Given the description of an element on the screen output the (x, y) to click on. 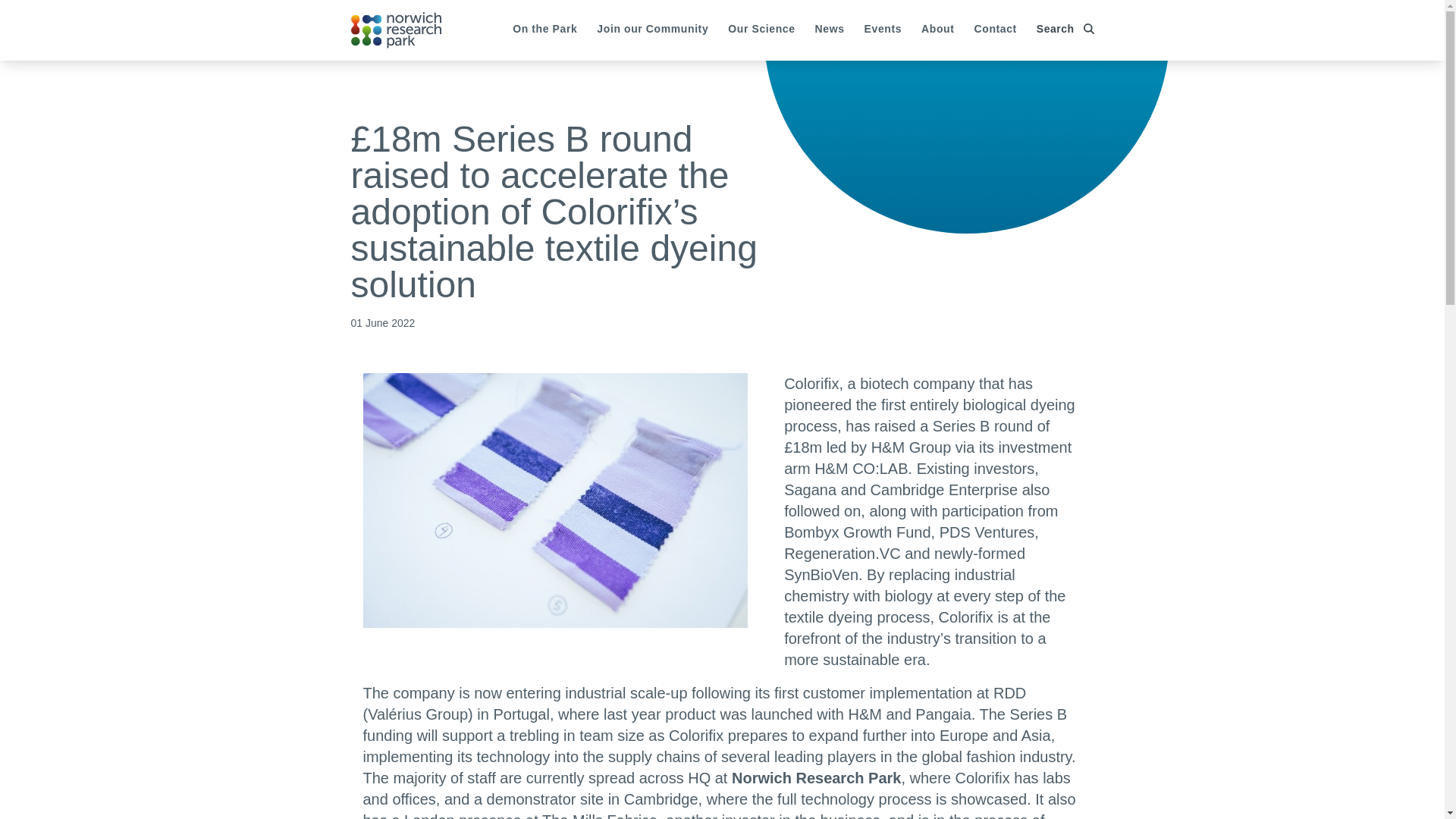
About (937, 30)
Contact (994, 30)
Events (883, 30)
Our Science (761, 30)
On the Park (544, 30)
News (829, 30)
Join our Community (651, 30)
Search (1060, 28)
